Given the description of an element on the screen output the (x, y) to click on. 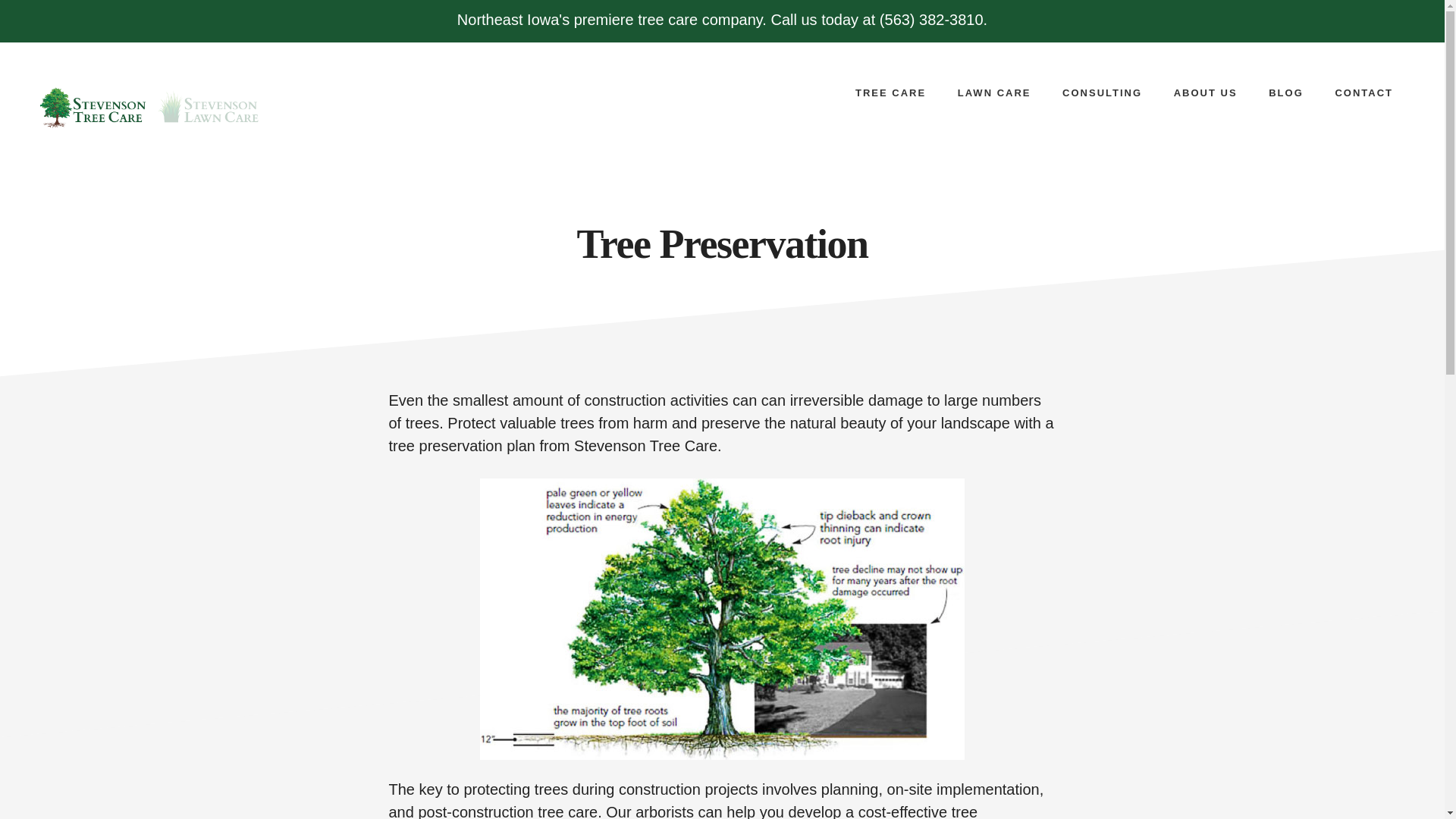
BLOG (1286, 92)
TREE CARE (890, 92)
LAWN CARE (994, 92)
CONSULTING (1102, 92)
ABOUT US (1205, 92)
